Given the description of an element on the screen output the (x, y) to click on. 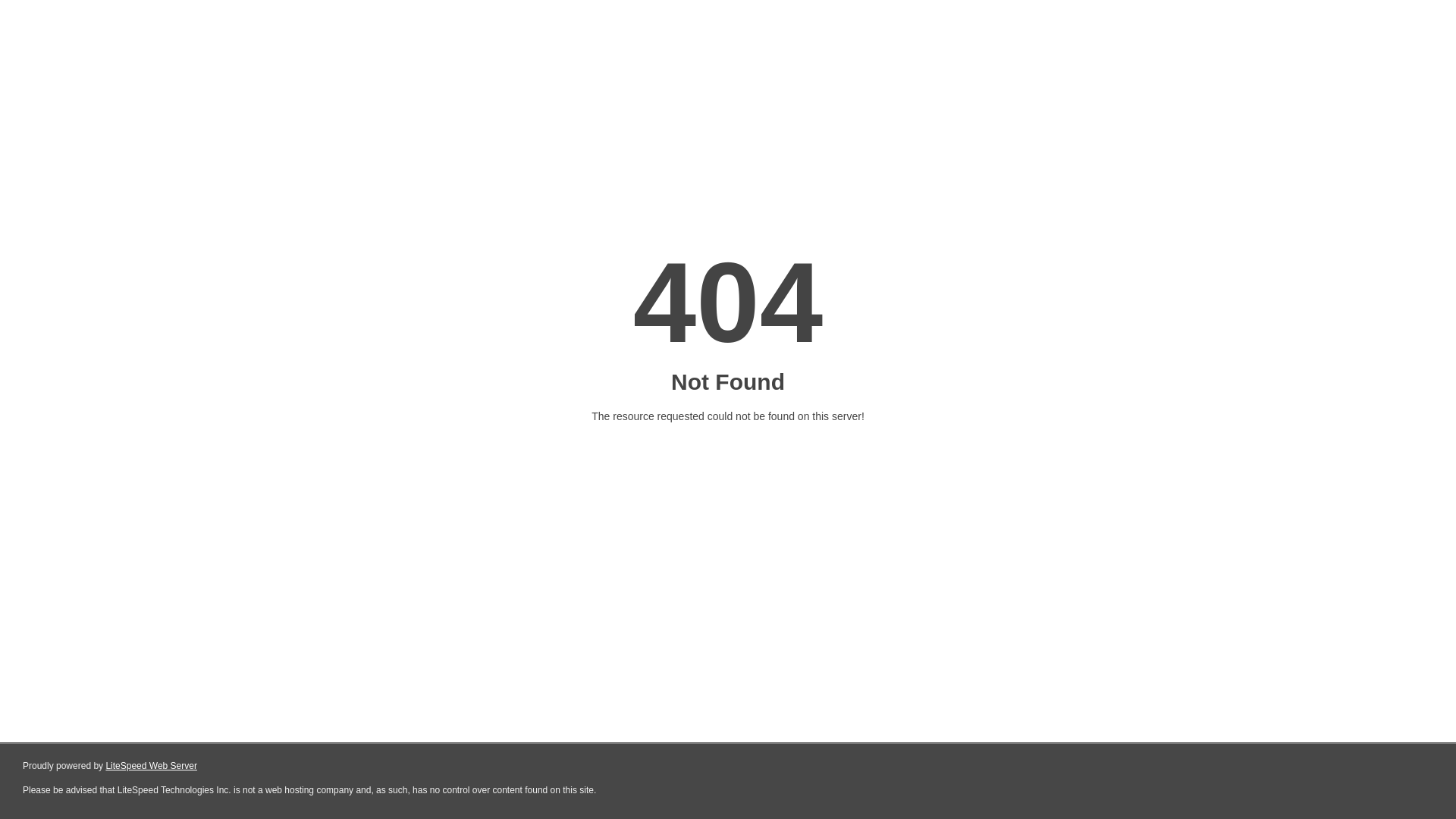
LiteSpeed Web Server Element type: text (151, 765)
